Given the description of an element on the screen output the (x, y) to click on. 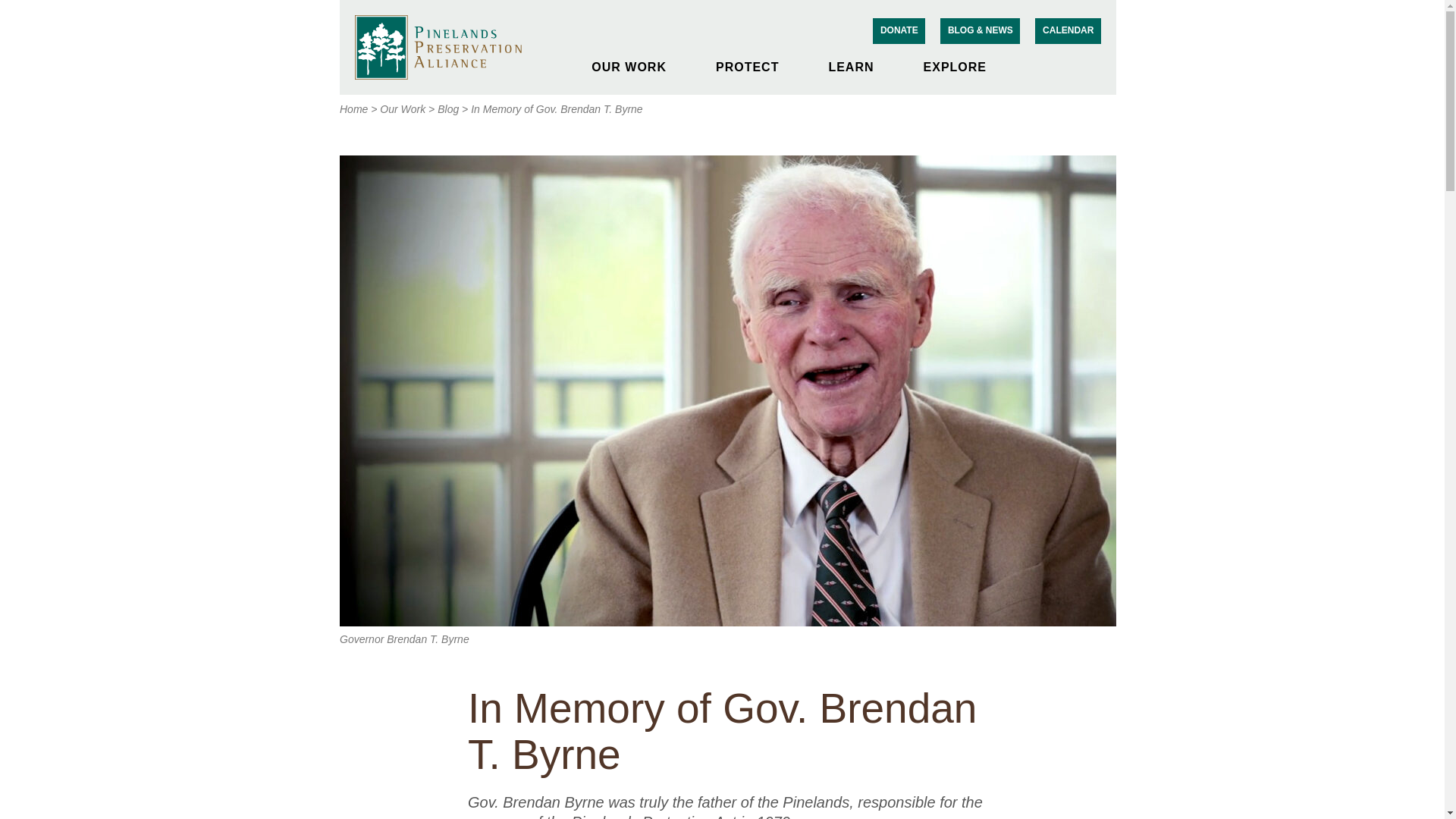
DONATE (898, 31)
Instagram (1068, 59)
Twitter (1083, 59)
Facebook (1052, 59)
Go to Our Work (402, 109)
OUR WORK (638, 66)
LEARN (860, 66)
Go to Blog (448, 109)
EXPLORE (964, 66)
CALENDAR (1067, 31)
